Given the description of an element on the screen output the (x, y) to click on. 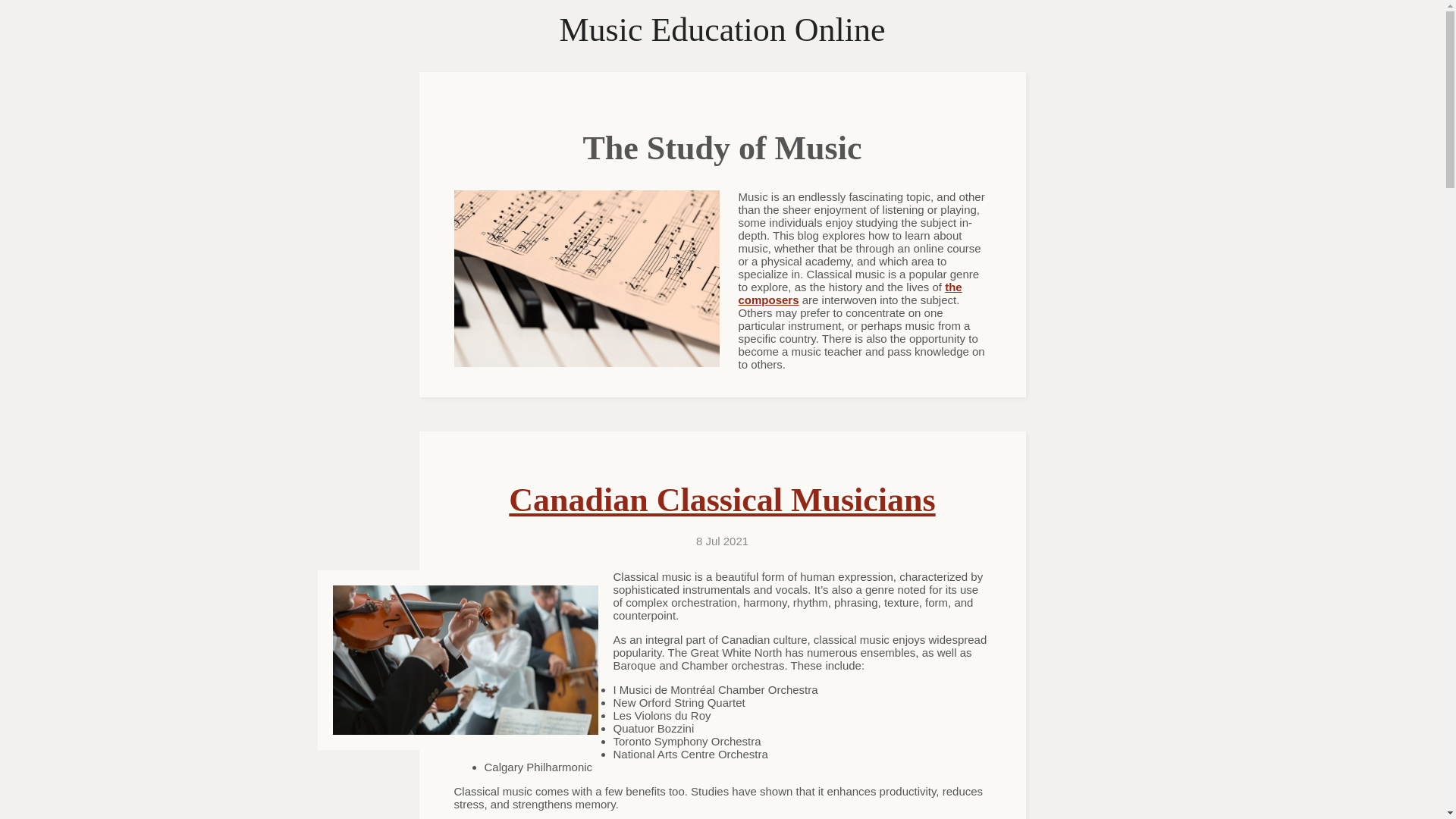
the composers (850, 293)
Canadian Classical Musicians (721, 499)
